Given the description of an element on the screen output the (x, y) to click on. 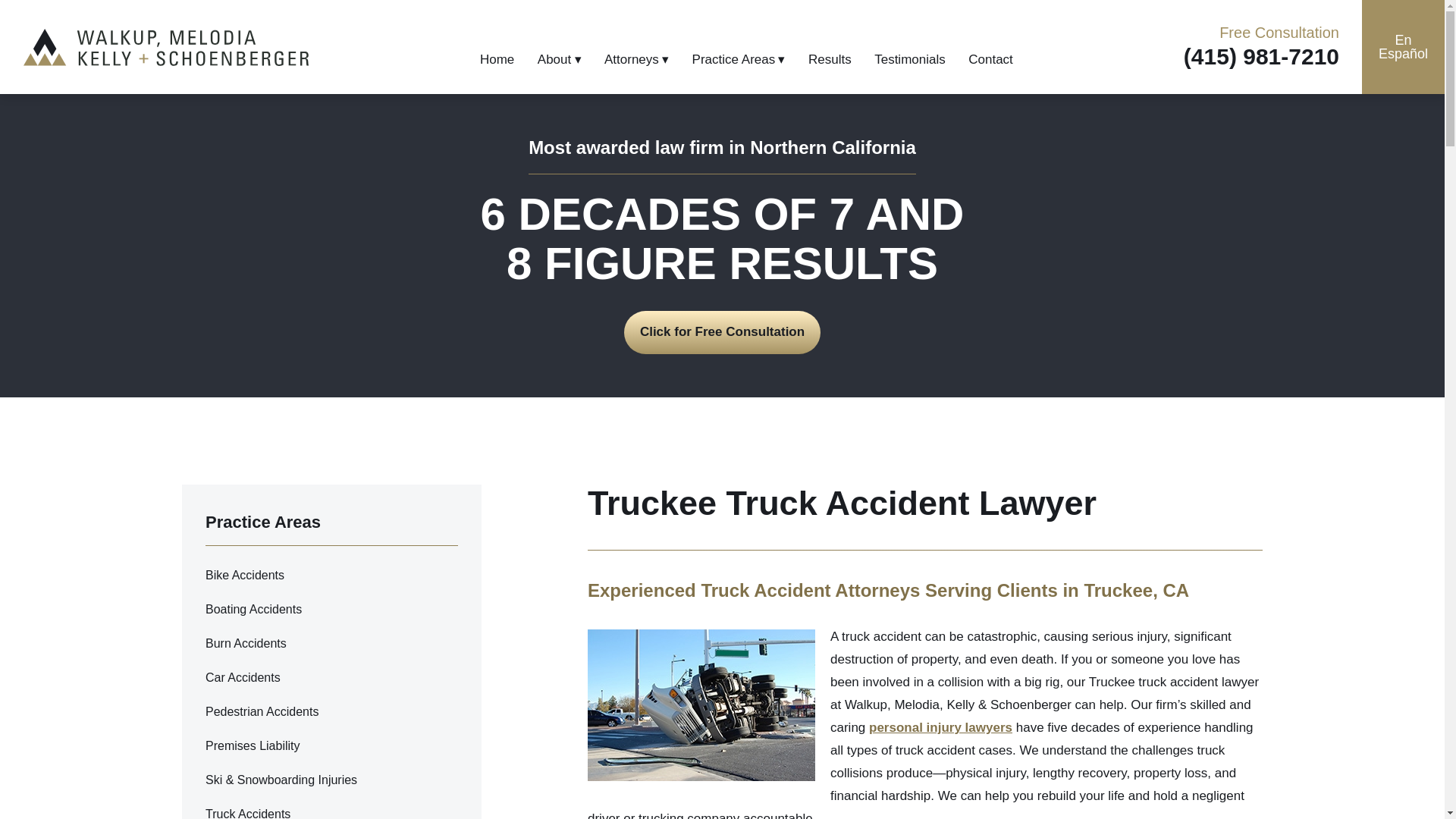
Attorneys (636, 59)
Practice Areas (739, 59)
Phone (1261, 56)
